Given the description of an element on the screen output the (x, y) to click on. 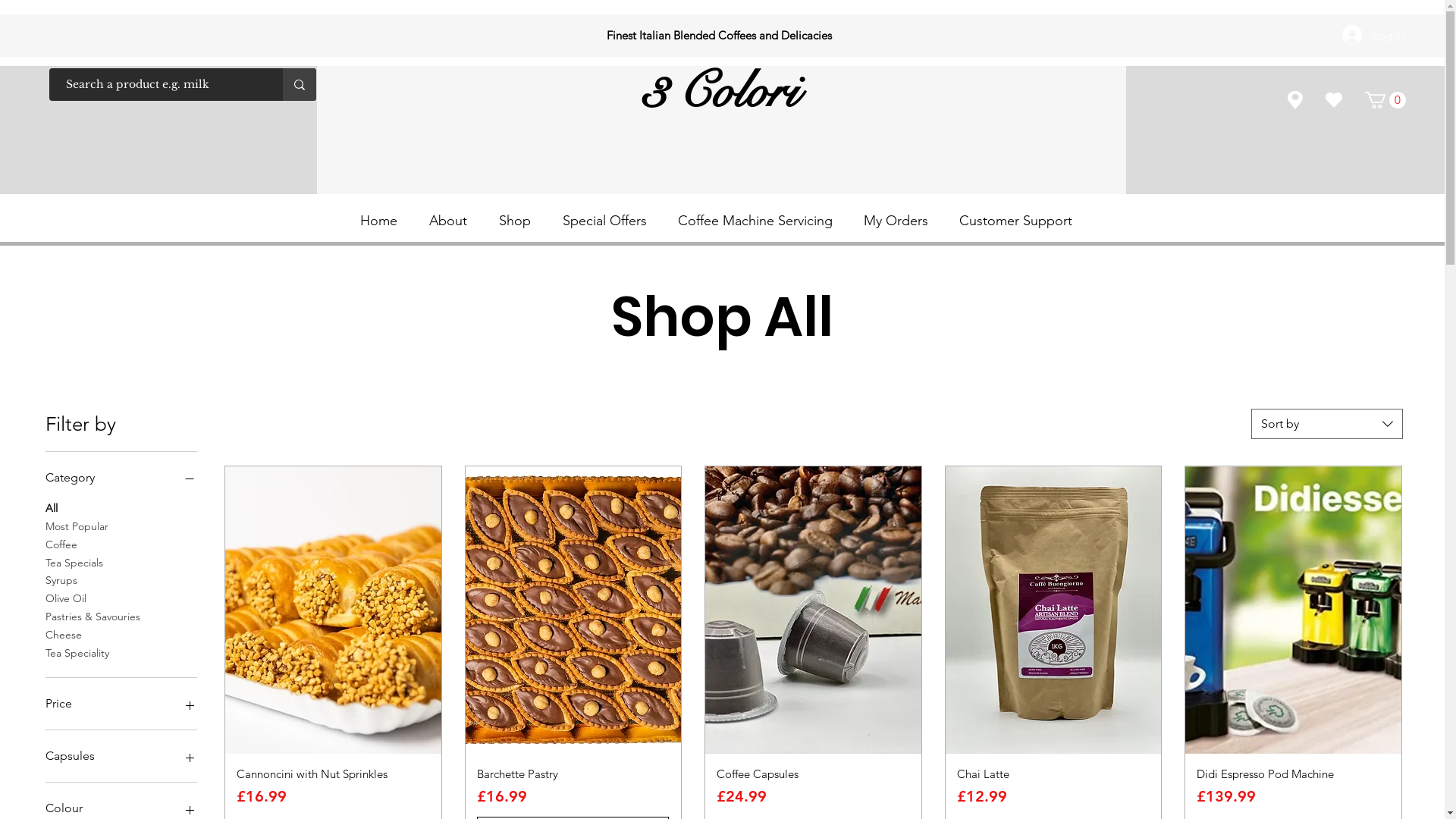
Special Offers Element type: text (607, 220)
Price Element type: text (121, 703)
Log In Element type: text (1373, 34)
My Orders Element type: text (899, 220)
0 Element type: text (1385, 99)
Customer Support Element type: text (1019, 220)
Home Element type: text (382, 220)
Sort by Element type: text (1326, 423)
About Element type: text (451, 220)
3 Colori Element type: text (718, 91)
Coffee Machine Servicing Element type: text (758, 220)
Category Element type: text (121, 477)
Capsules Element type: text (121, 755)
